Given the description of an element on the screen output the (x, y) to click on. 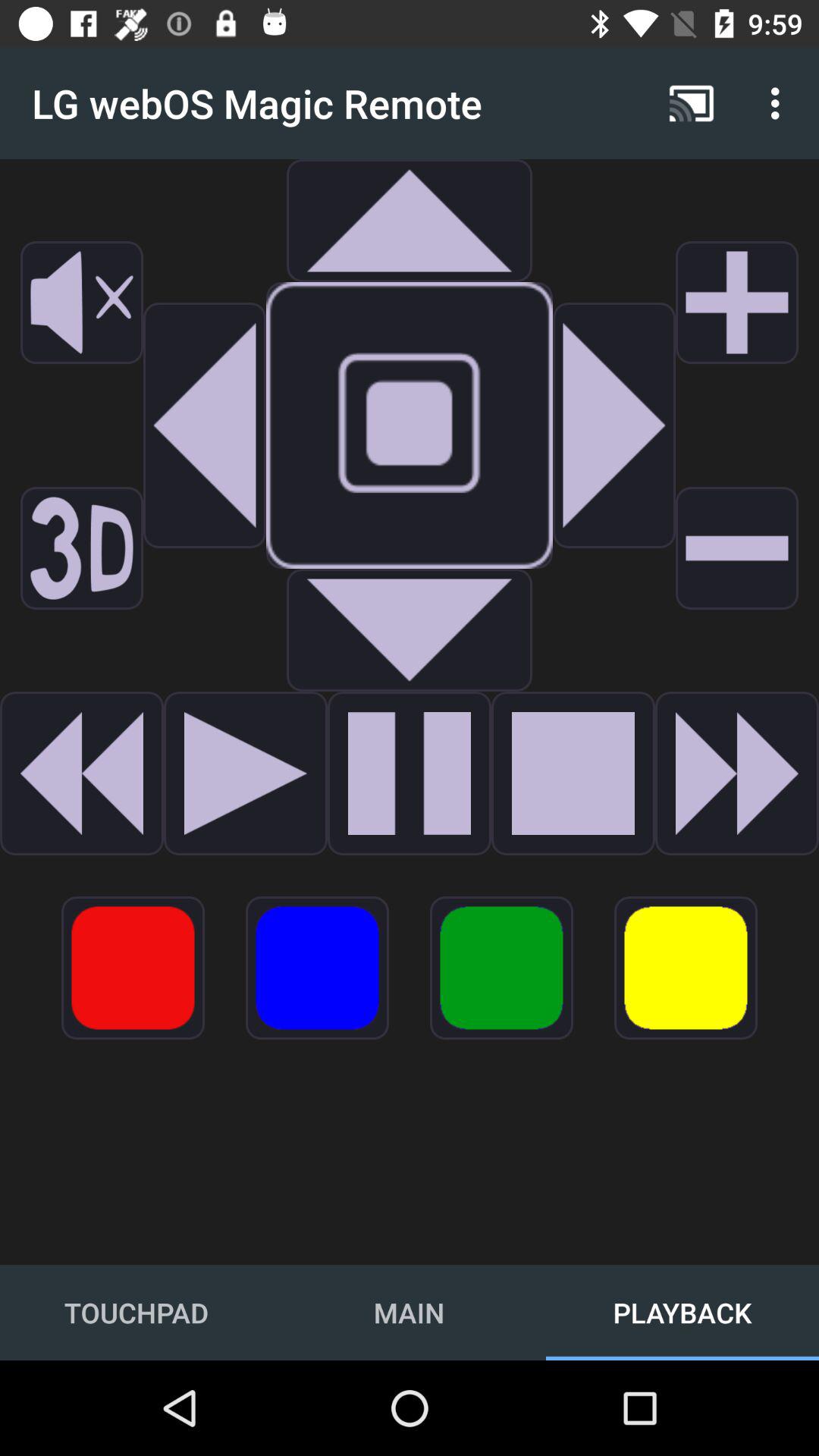
go to play (409, 773)
